Given the description of an element on the screen output the (x, y) to click on. 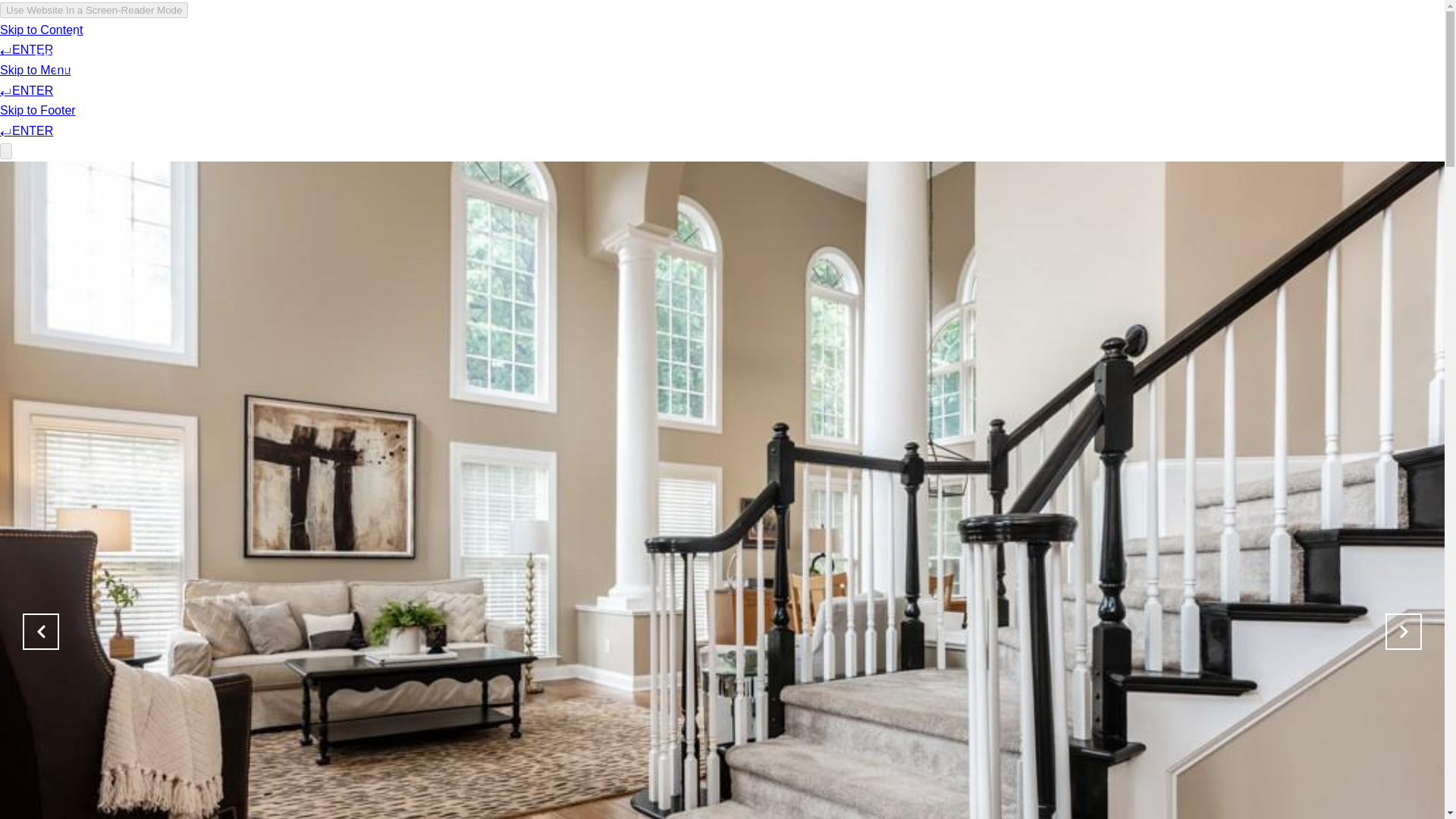
COUNTRY CLUBS (1011, 55)
OUR TEAM (1238, 55)
DESIGN SERVICES (1133, 55)
